Given the description of an element on the screen output the (x, y) to click on. 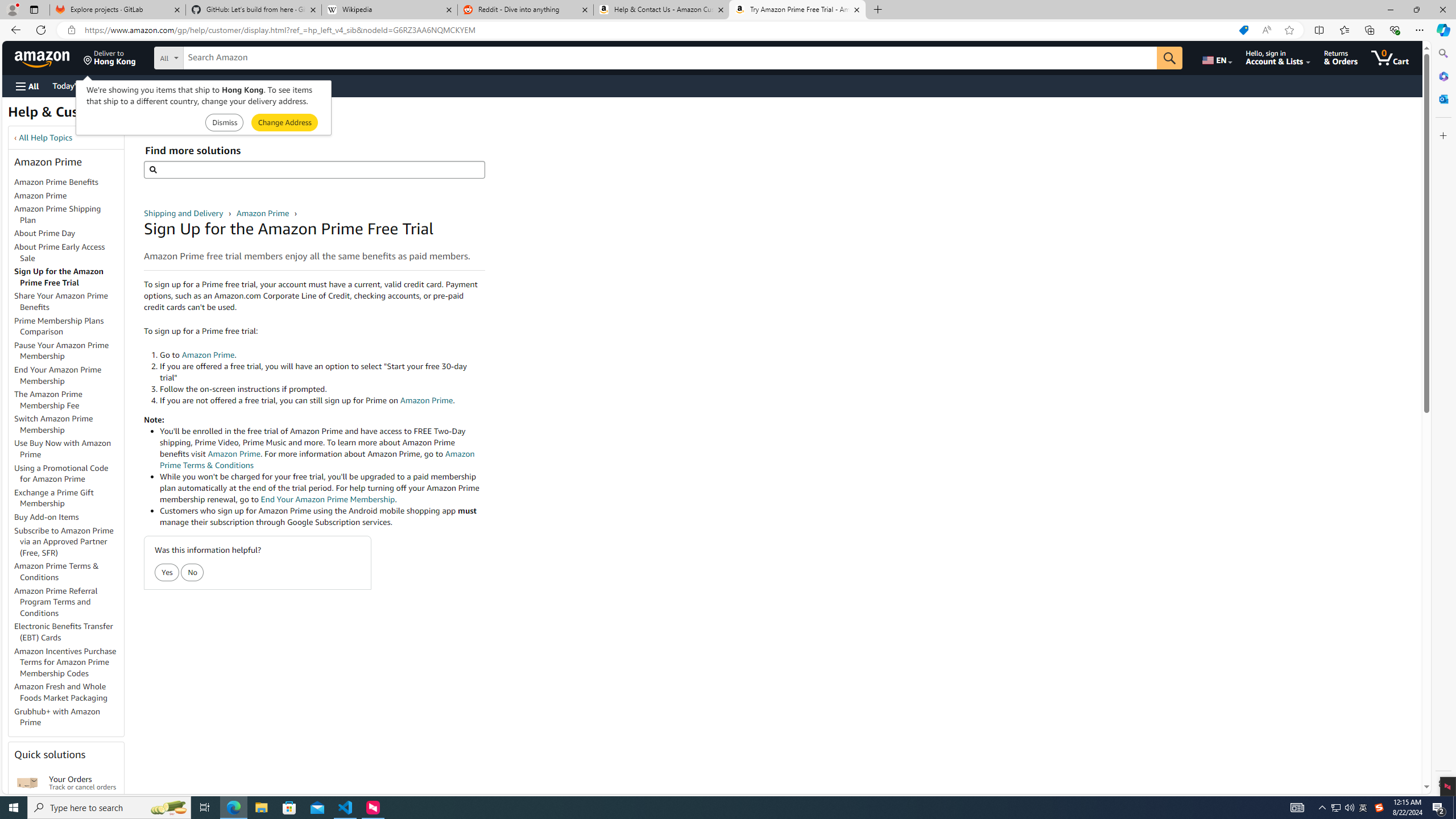
Buy Add-on Items (68, 517)
Using a Promotional Code for Amazon Prime (61, 473)
Electronic Benefits Transfer (EBT) Cards (63, 631)
Sell (290, 85)
About Prime Day (68, 233)
Yes (167, 572)
Today's Deals (76, 85)
Submit (284, 122)
Pause Your Amazon Prime Membership (61, 350)
